Given the description of an element on the screen output the (x, y) to click on. 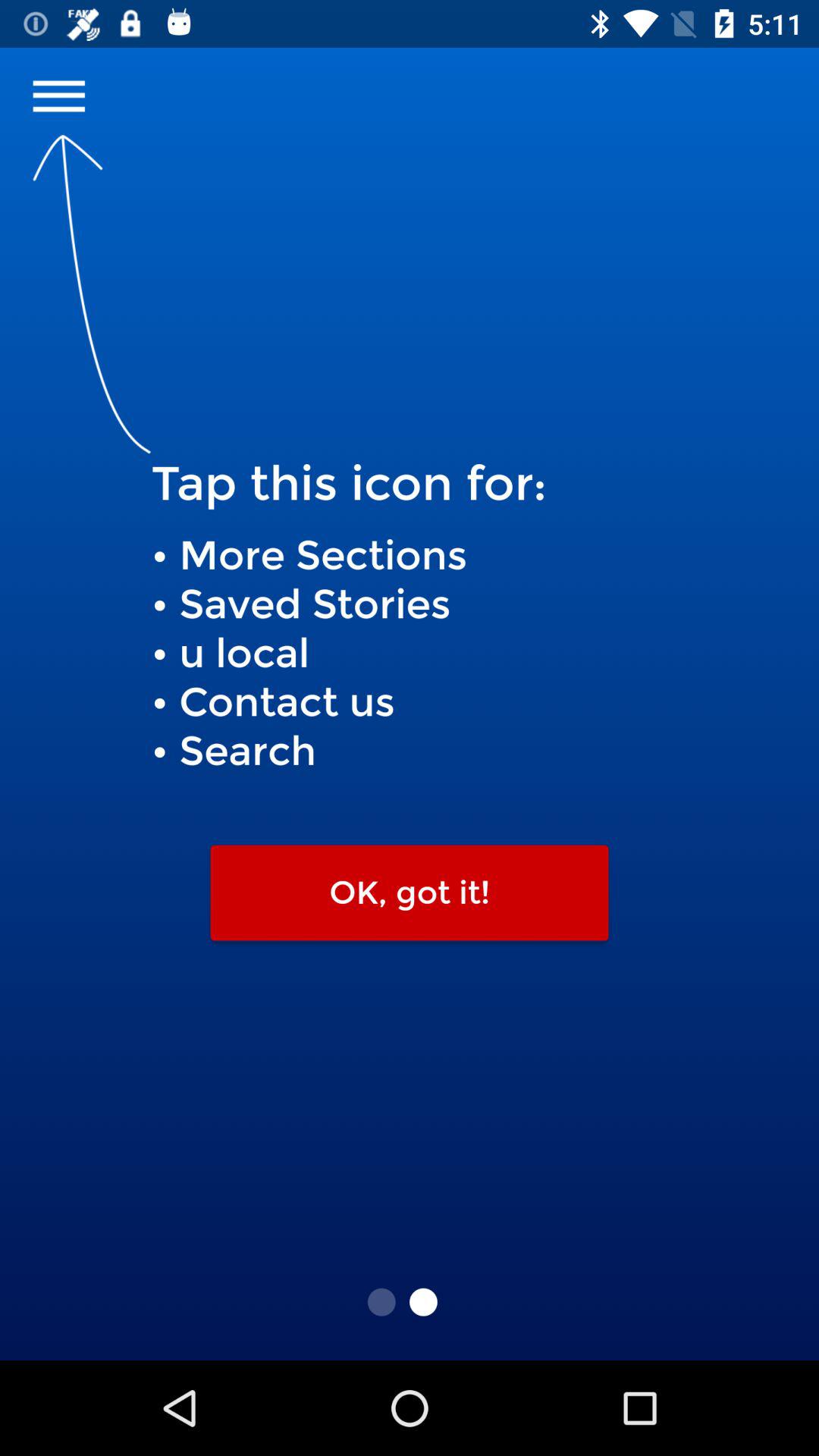
jump until ok, got it! icon (409, 892)
